Given the description of an element on the screen output the (x, y) to click on. 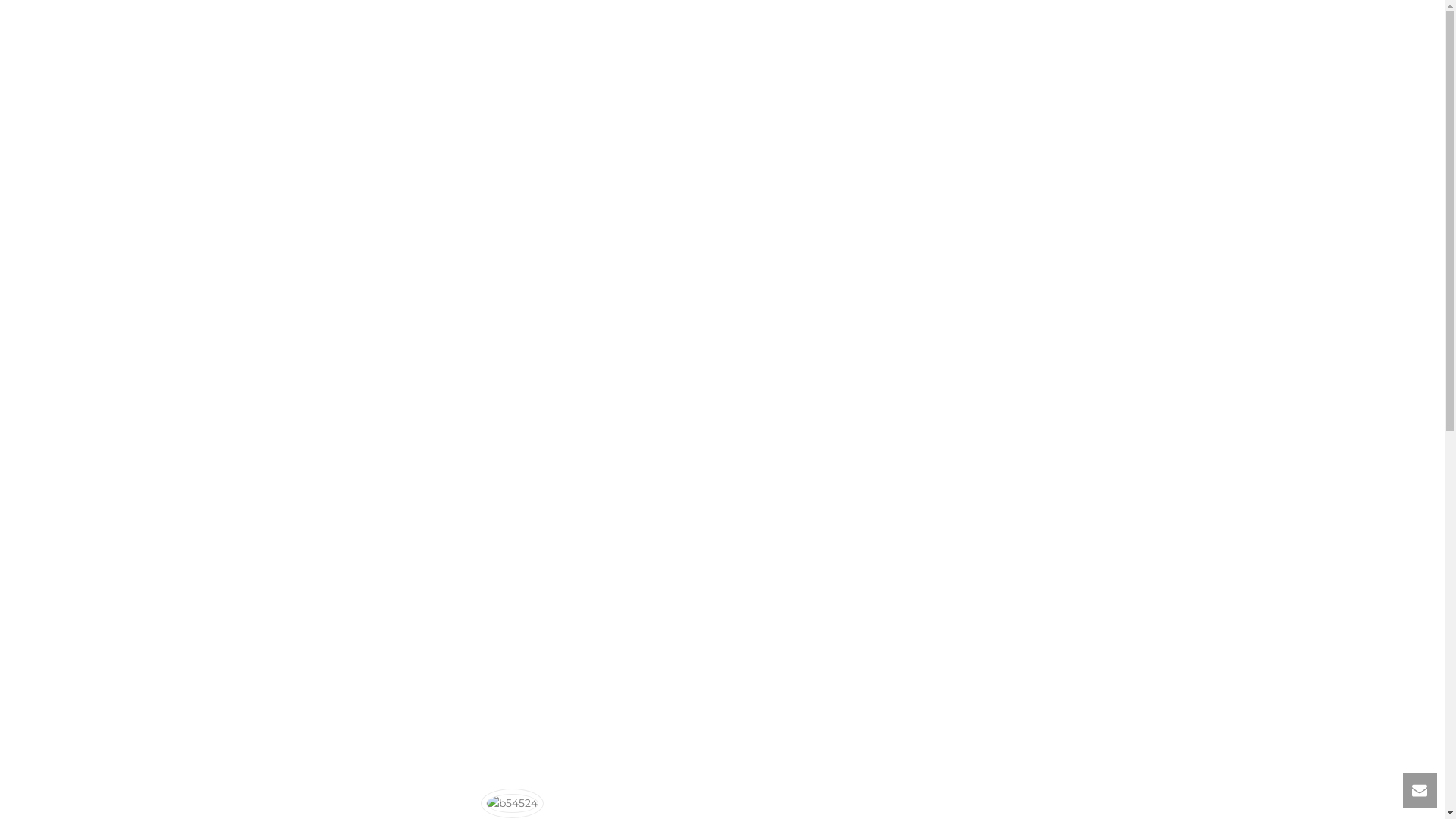
LEARN MORE Element type: text (716, 515)
ABOUT US Element type: text (1038, 34)
b54524 Element type: hover (511, 802)
HOME Element type: text (889, 34)
WHAT WE DO Element type: text (959, 34)
Professional business consultants  Element type: hover (395, 33)
CONTACT US Element type: text (1113, 34)
